Given the description of an element on the screen output the (x, y) to click on. 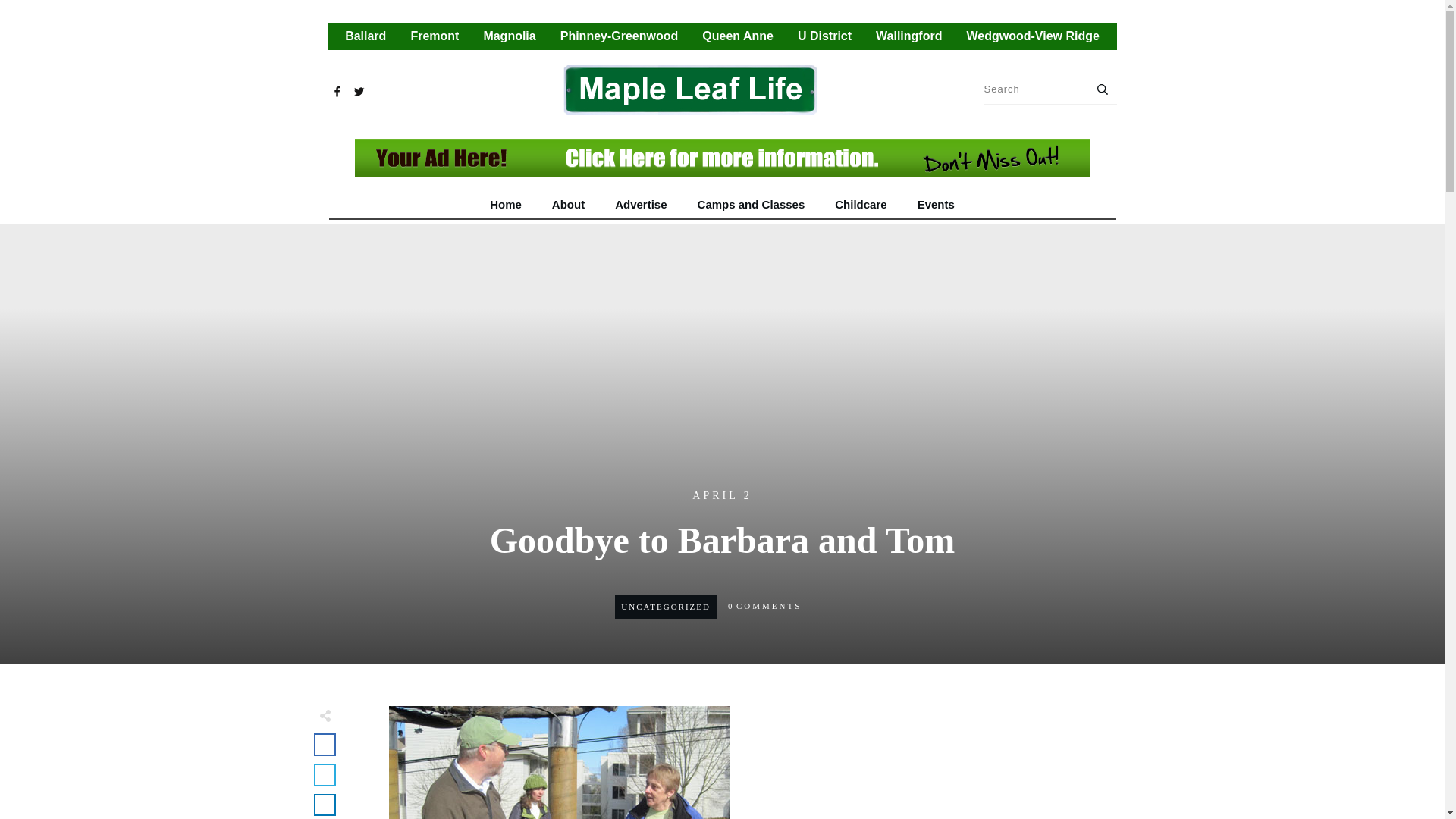
PW Top Header Ad (722, 157)
Phinney-Greenwood (619, 36)
Childcare (860, 204)
Events (936, 204)
Fremont (434, 36)
About (568, 204)
Advertise (640, 204)
Camps and Classes (751, 204)
Ballard (365, 36)
U District (824, 36)
